Given the description of an element on the screen output the (x, y) to click on. 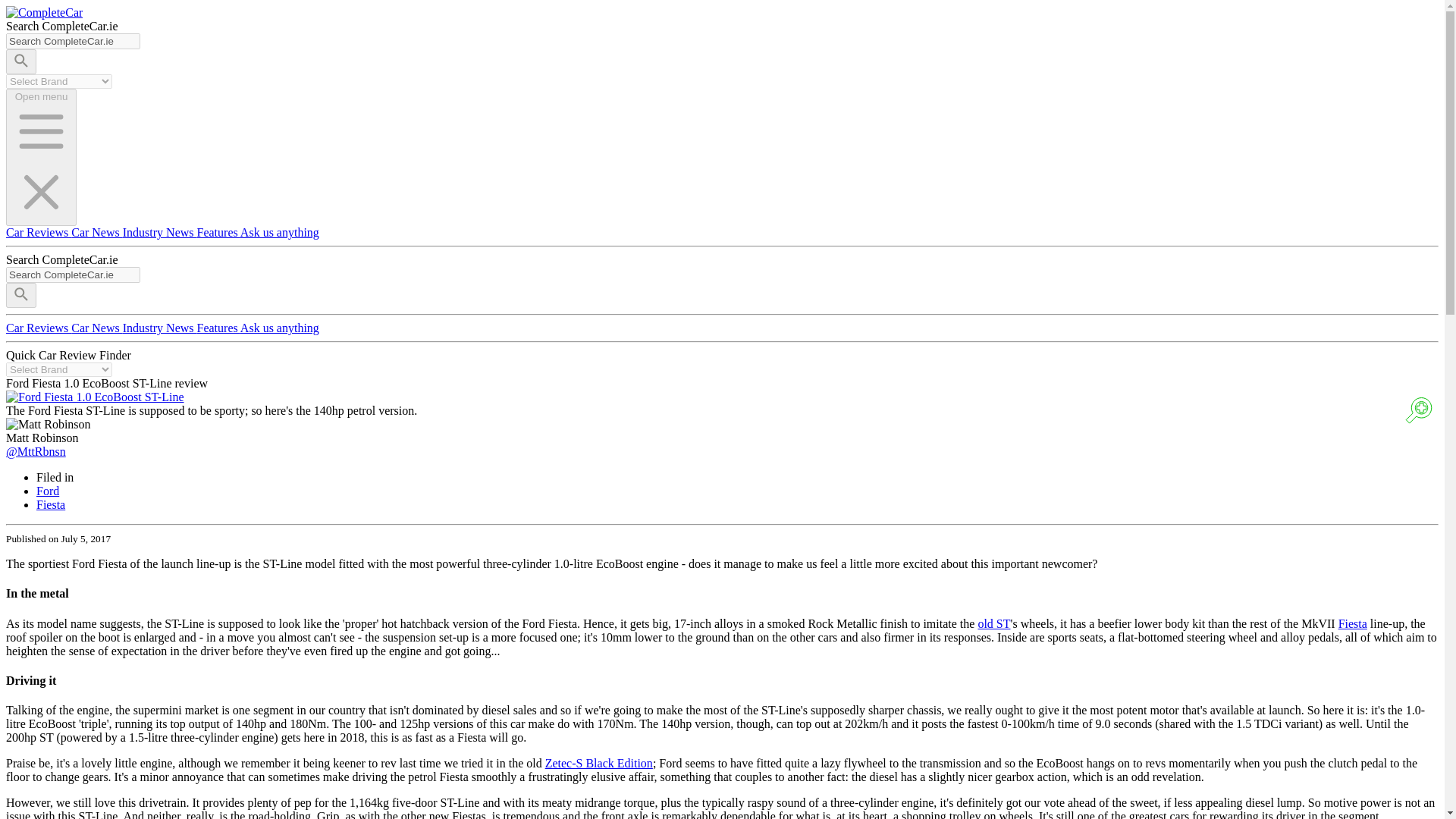
Car News (96, 327)
Features (218, 232)
Car News (96, 232)
Search CompleteCar.ie (72, 41)
Search CompleteCar.ie (72, 274)
Ask us anything (279, 232)
Industry News (159, 232)
Features (218, 327)
Industry News (159, 327)
Search CompleteCar.ie (72, 41)
